Given the description of an element on the screen output the (x, y) to click on. 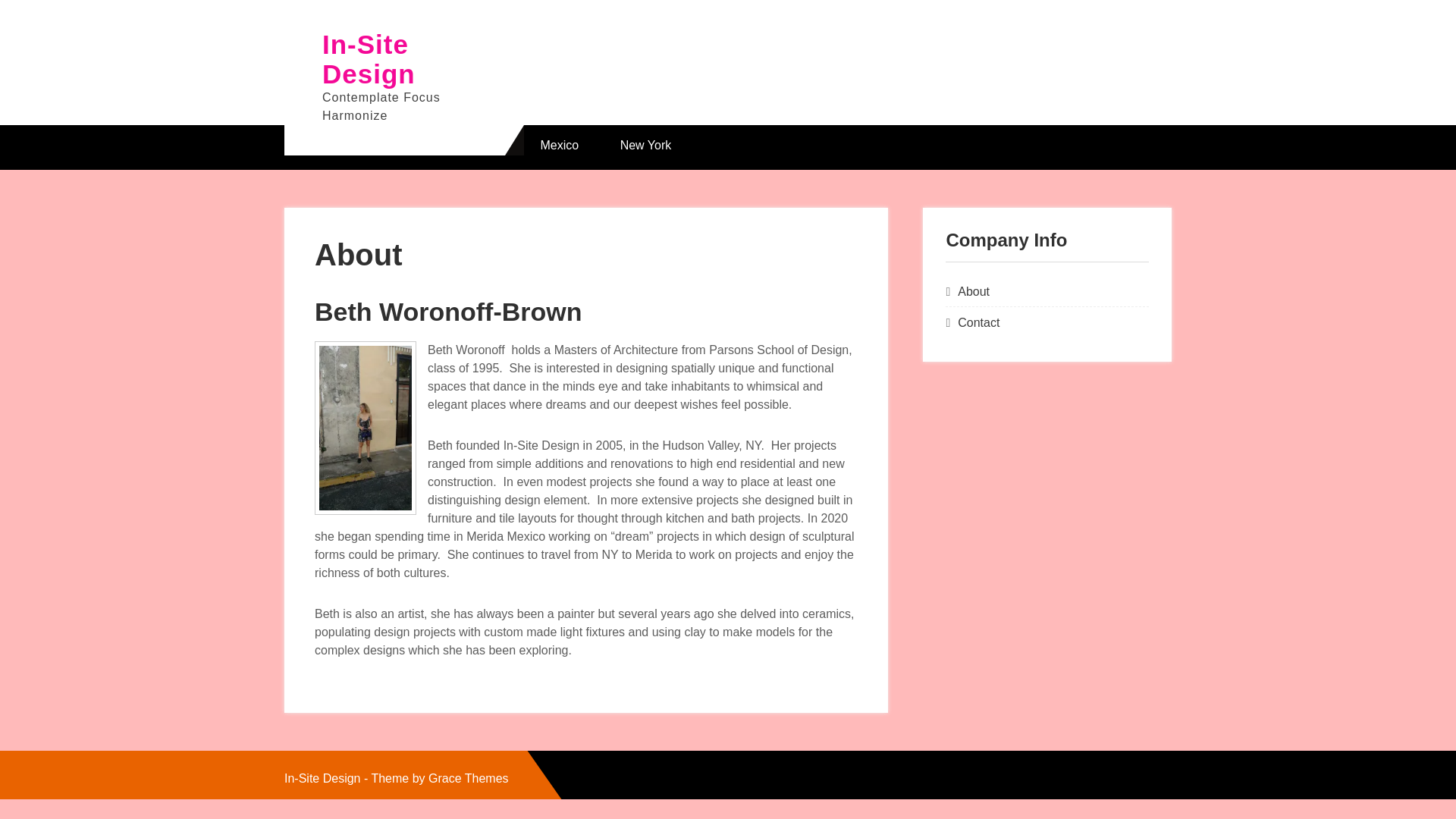
Contact (978, 322)
Mexico (559, 147)
About (974, 291)
In-Site Design (367, 58)
New York (645, 147)
